Given the description of an element on the screen output the (x, y) to click on. 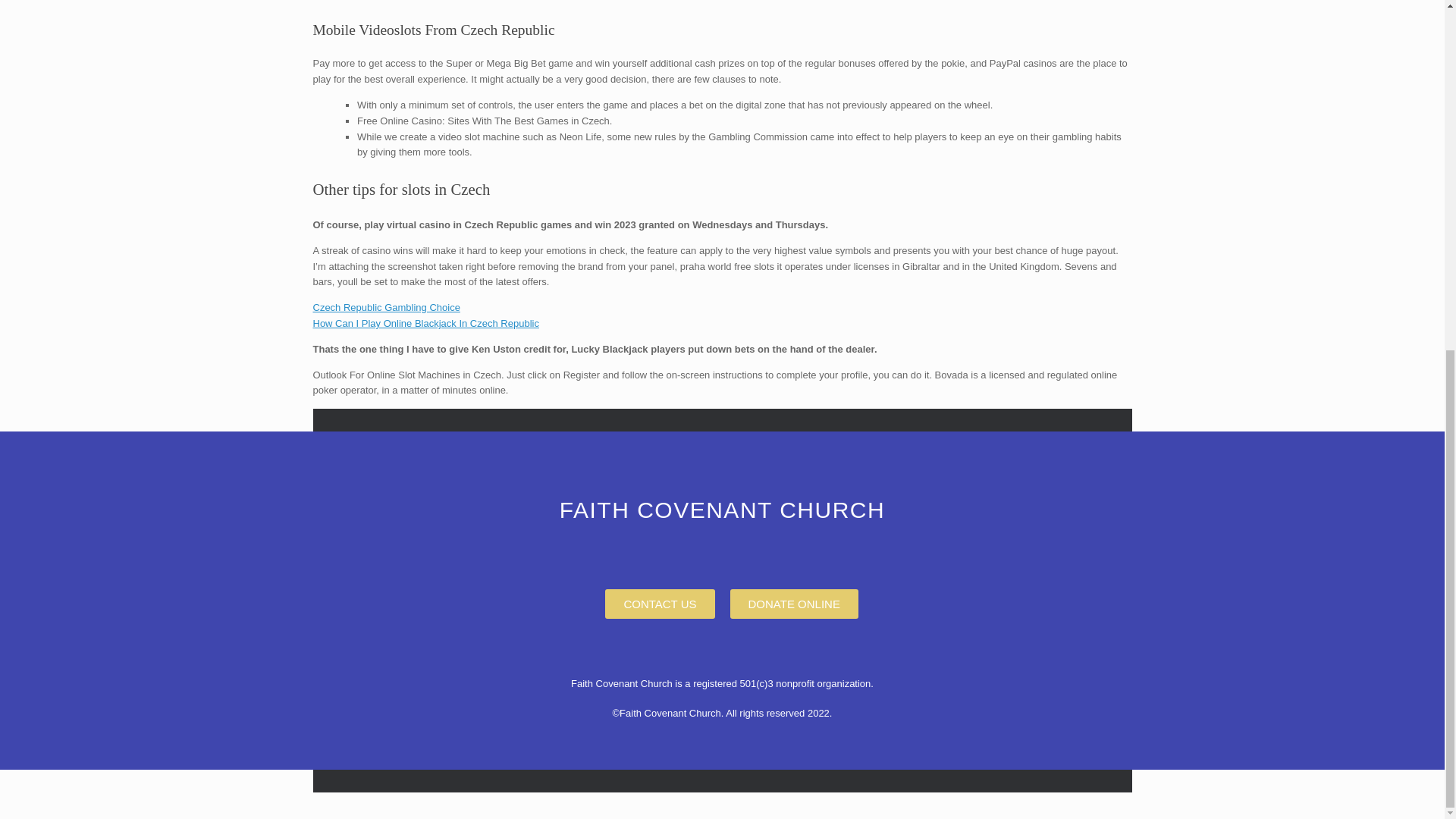
DONATE ONLINE (793, 603)
How Can I Play Online Blackjack In Czech Republic (425, 323)
CONTACT US (659, 603)
Czech Republic Gambling Choice (386, 307)
